Given the description of an element on the screen output the (x, y) to click on. 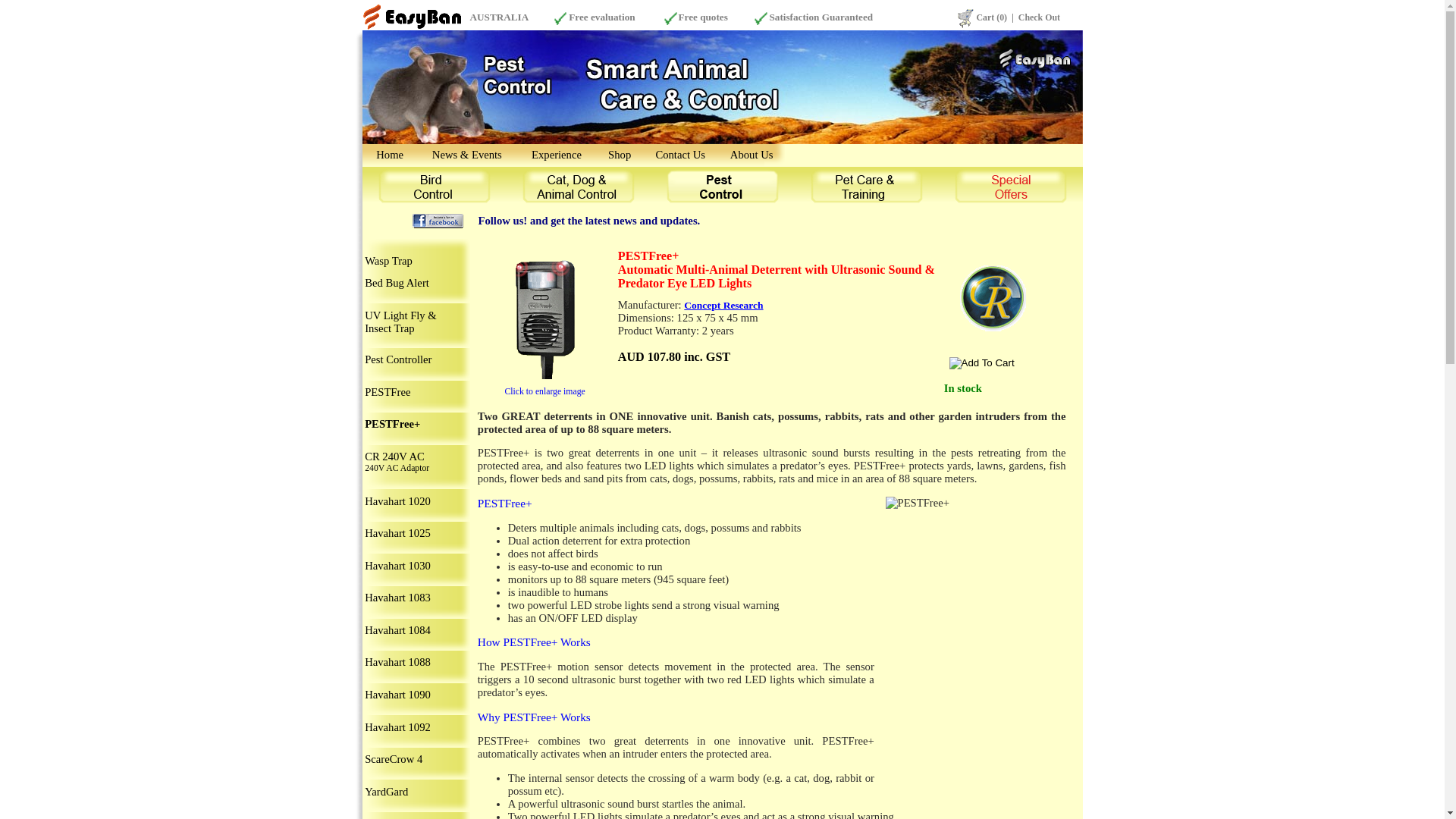
News & Events Element type: text (467, 154)
About Us Element type: text (751, 154)
Concept Research Element type: text (723, 304)
Home Element type: text (389, 154)
Click to enlarge image Element type: text (545, 390)
Contact Us Element type: text (680, 154)
YardGard Element type: text (385, 791)
CR 240V AC
240V AC Adaptor Element type: text (396, 461)
ScareCrow 4 Element type: text (393, 759)
UV Light Fly & Insect Trap Element type: text (400, 321)
Havahart 1025 Element type: text (397, 533)
Cart (0) Element type: text (991, 17)
Wasp Trap Element type: text (388, 260)
Shop Element type: text (619, 154)
Free evaluation Element type: text (601, 16)
Havahart 1020 Element type: text (397, 501)
Pest Controller Element type: text (397, 359)
Free quotes Element type: text (702, 16)
Havahart 1030 Element type: text (397, 565)
Havahart 1088 Element type: text (397, 661)
Havahart 1084 Element type: text (397, 630)
PESTFree+ Element type: text (392, 423)
Satisfaction Guaranteed Element type: text (820, 16)
Experience Element type: text (556, 154)
Bed Bug Alert Element type: text (396, 282)
Havahart 1092 Element type: text (397, 727)
Check Out Element type: text (1039, 17)
Havahart 1083 Element type: text (397, 597)
Havahart 1090 Element type: text (397, 694)
PESTFree Element type: text (387, 391)
